Given the description of an element on the screen output the (x, y) to click on. 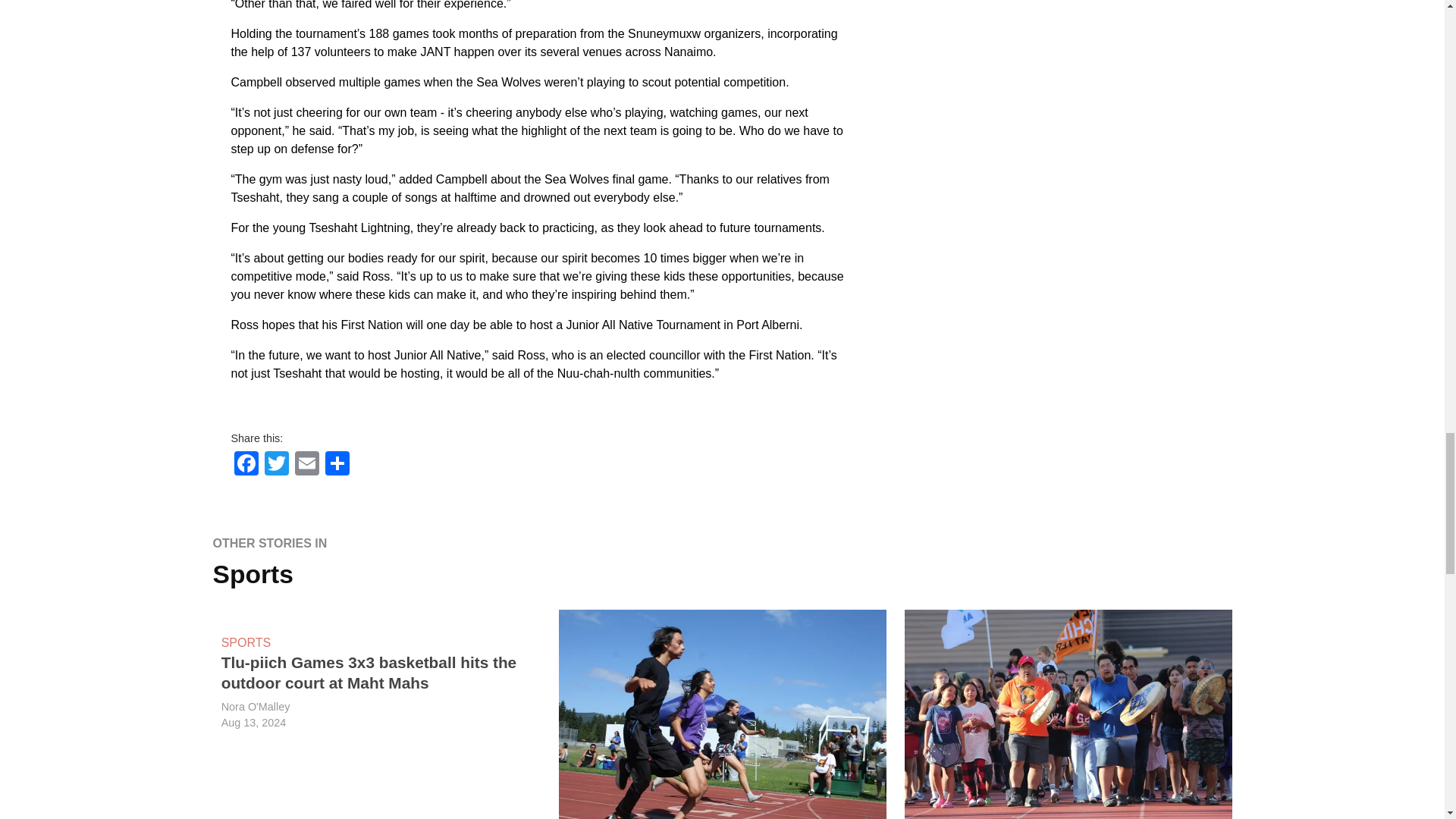
Share (336, 462)
Facebook (245, 462)
Email (306, 462)
Nora O'Malley (255, 707)
SPORTS (245, 642)
Twitter (275, 462)
Sports (252, 574)
